Given the description of an element on the screen output the (x, y) to click on. 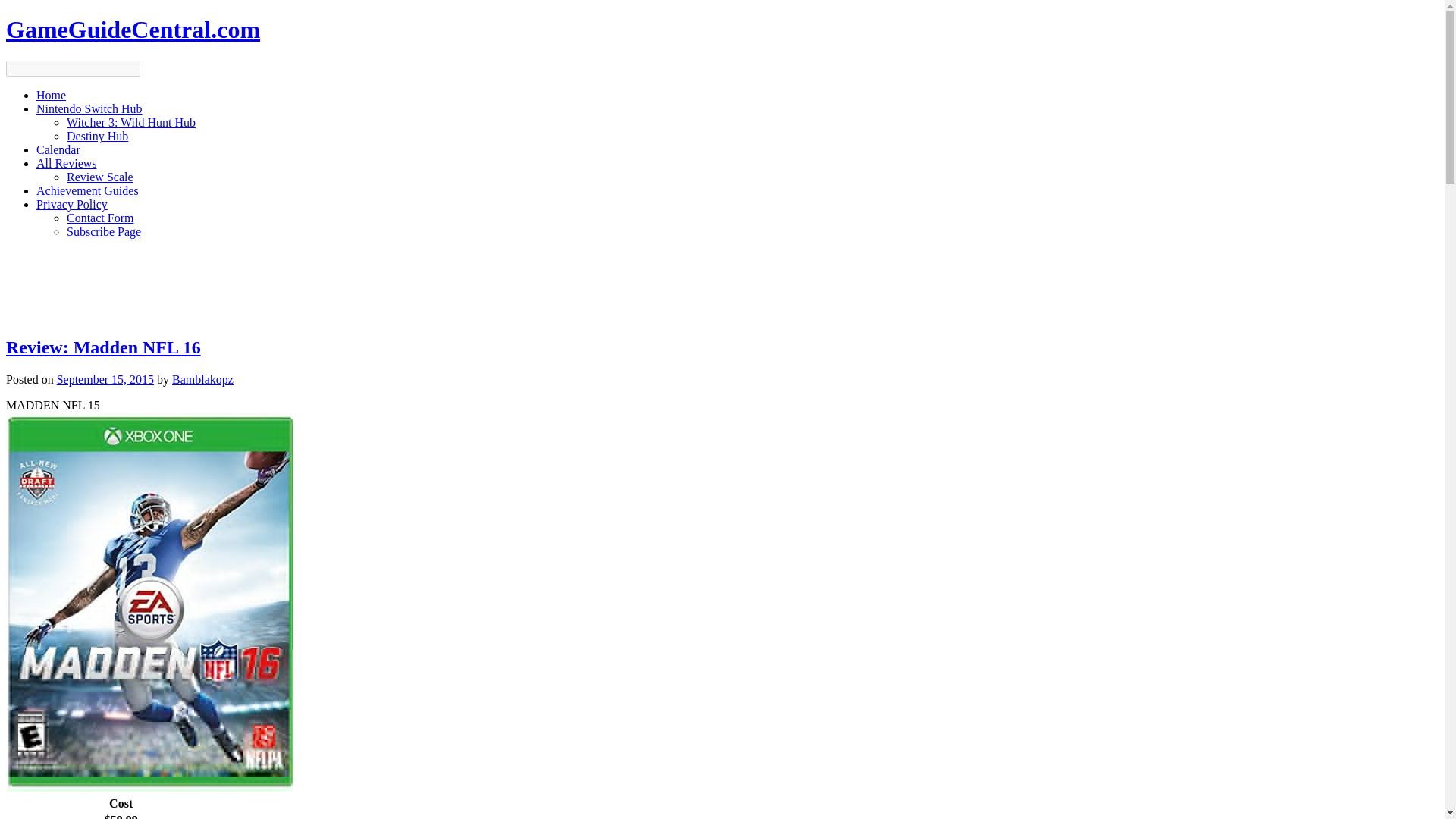
September 15, 2015 (105, 379)
Contact Form (99, 217)
Permalink to Review: Madden NFL 16 (102, 347)
Advertisement (721, 284)
Review Scale (99, 176)
All Reviews (66, 163)
Witcher 3: Wild Hunt Hub (130, 122)
Destiny Hub (97, 135)
Bamblakopz (201, 379)
Calendar (58, 149)
Review: Madden NFL 16 (102, 347)
8:12 pm (105, 379)
Nintendo Switch Hub (89, 108)
Subscribe Page (103, 231)
Achievement Guides (87, 190)
